Given the description of an element on the screen output the (x, y) to click on. 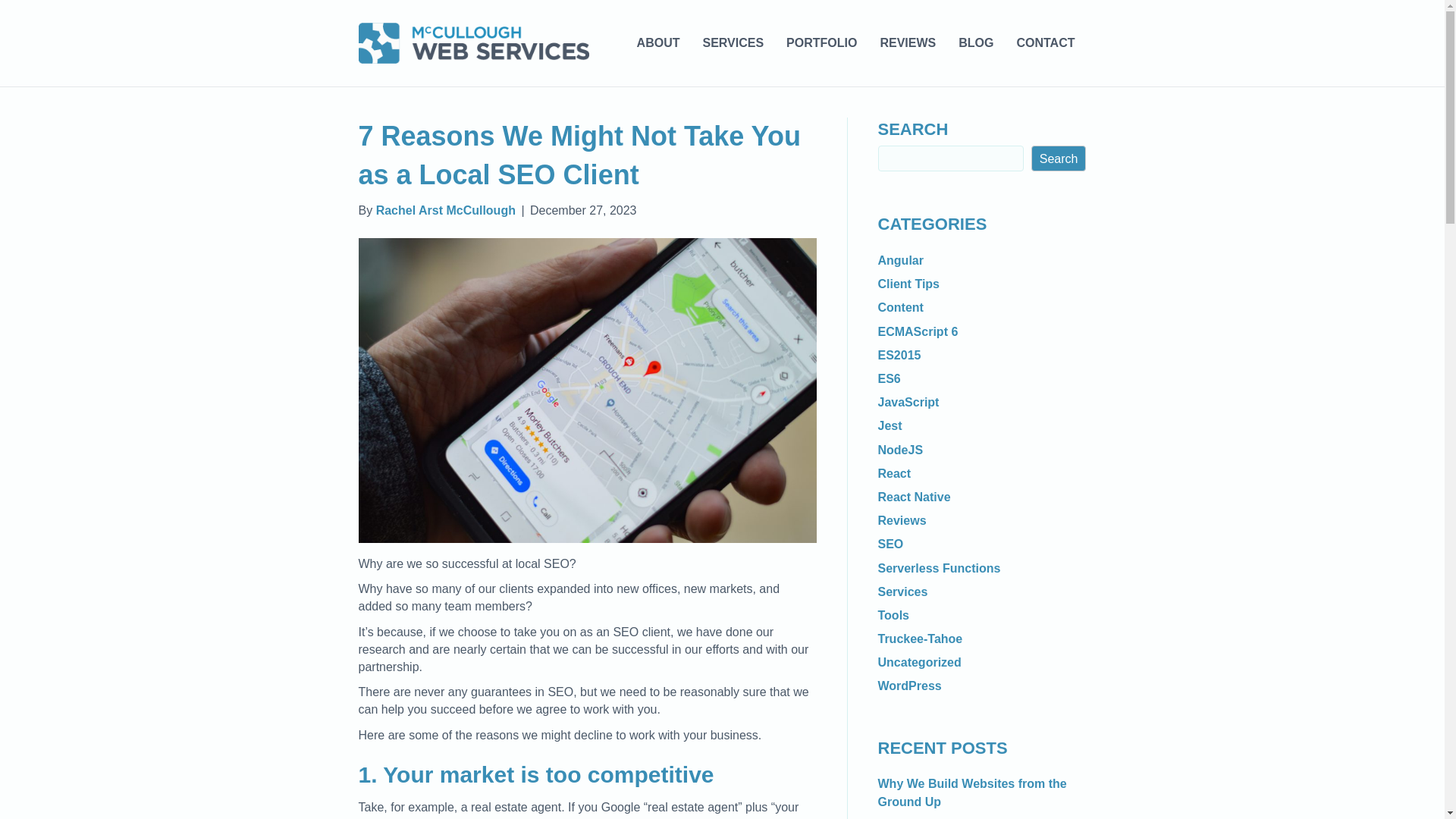
React Native (913, 496)
NodeJS (900, 449)
Truckee-Tahoe (919, 638)
Uncategorized (918, 662)
ES6 (889, 378)
CONTACT (1045, 43)
Reviews (901, 520)
WordPress (909, 685)
React (894, 472)
ECMAScript 6 (917, 331)
ES2015 (899, 354)
Why We Build Websites from the Ground Up (972, 792)
JavaScript (908, 401)
Client Tips (908, 283)
Content (900, 307)
